Given the description of an element on the screen output the (x, y) to click on. 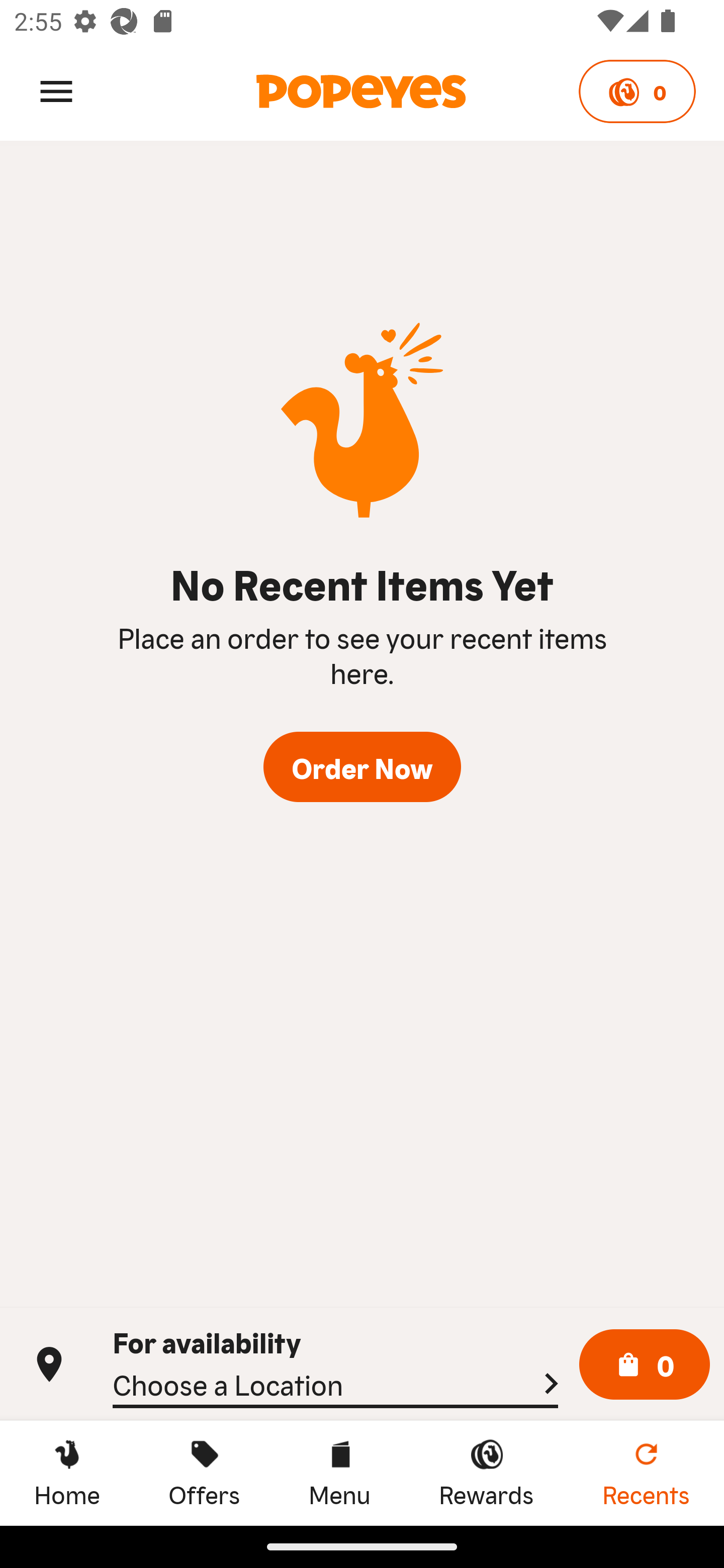
Menu  (56, 90)
0 Points 0 (636, 91)
Order Now (362, 767)
0 Cart total  0 (644, 1364)
Home Home Home (66, 1472)
Offers Offers Offers (203, 1472)
Menu Menu Menu (339, 1472)
Rewards Rewards Rewards (486, 1472)
